Given the description of an element on the screen output the (x, y) to click on. 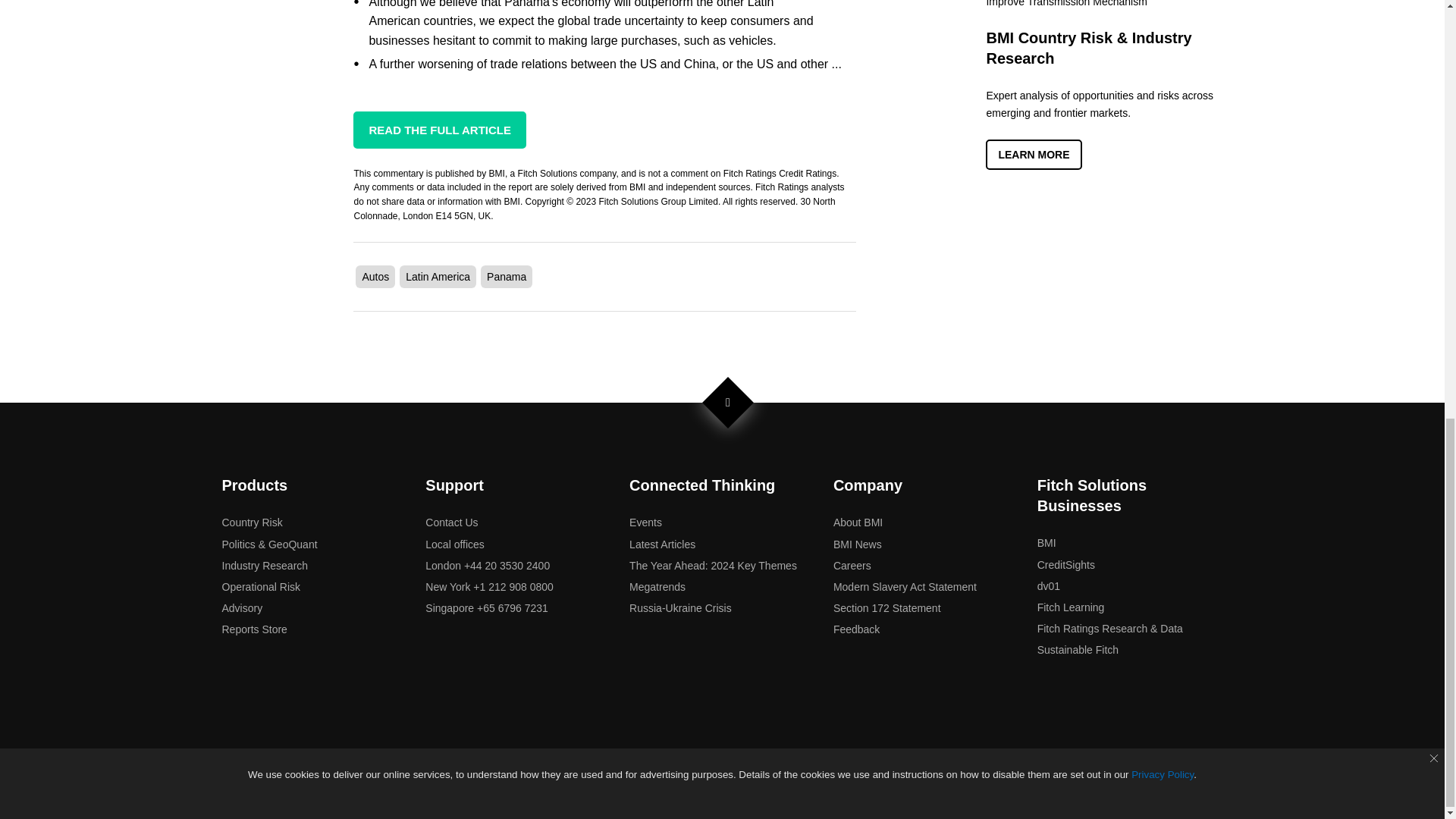
Operational Risk (260, 586)
READ THE FULL ARTICLE (439, 129)
LEARN MORE (1033, 154)
Industry Research (264, 565)
Country Risk (251, 522)
Reports Store (253, 629)
Latin America (438, 276)
Panama (505, 276)
Advisory (241, 607)
Autos (374, 276)
